Given the description of an element on the screen output the (x, y) to click on. 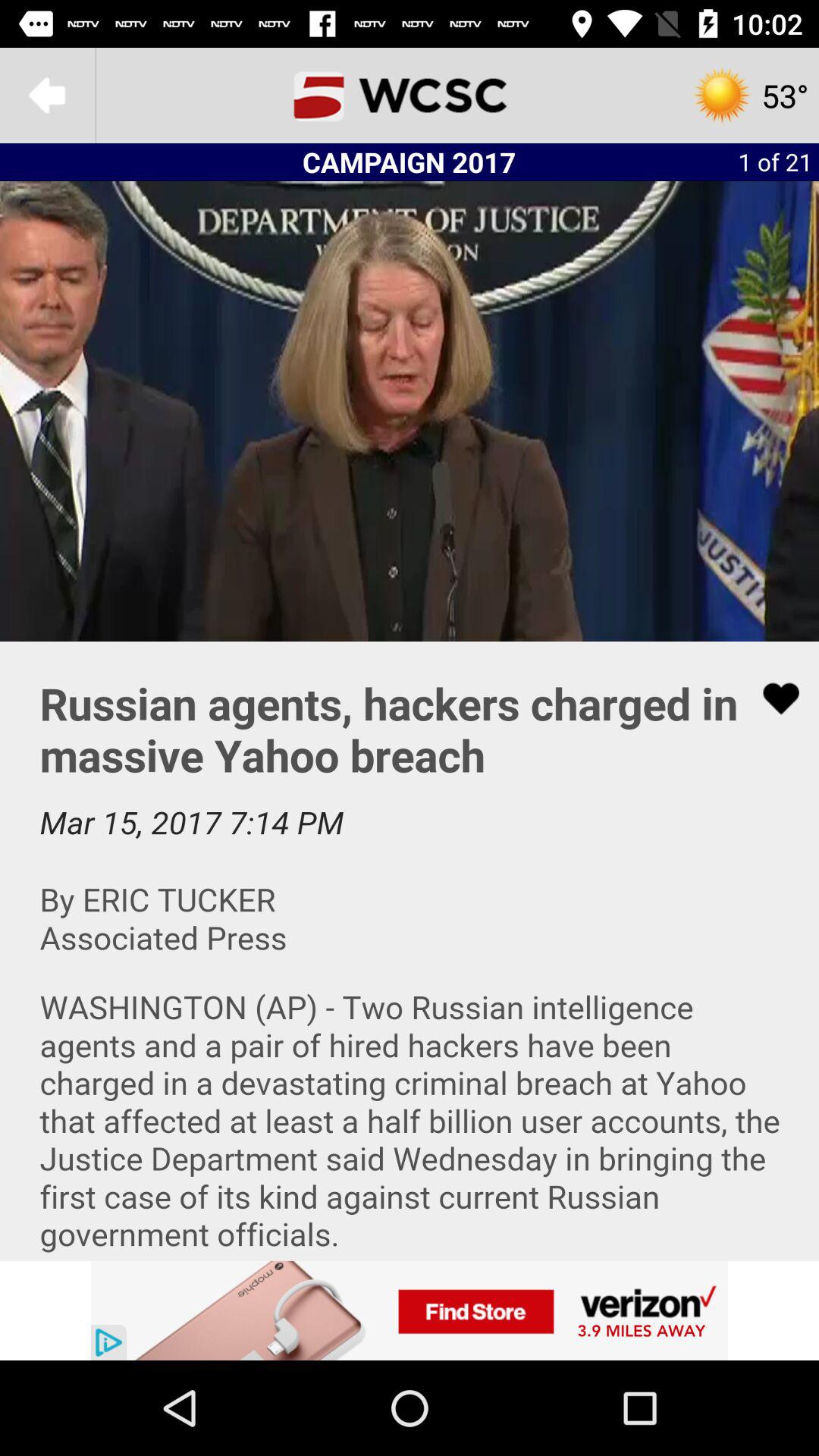
love article (771, 698)
